Given the description of an element on the screen output the (x, y) to click on. 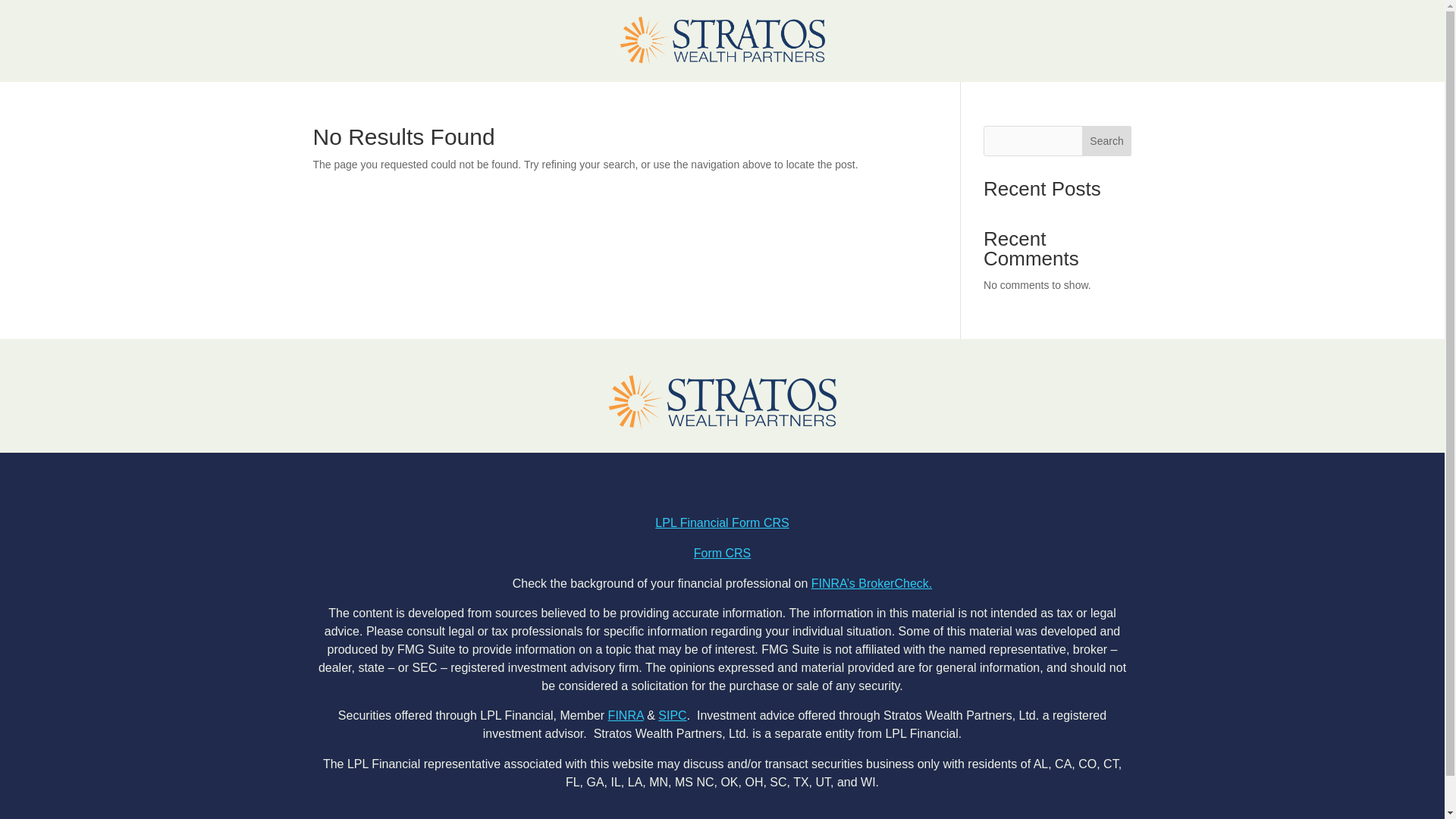
SIPC (671, 715)
stratos (722, 41)
stratos-1024x245-1 (721, 402)
Form CRS (722, 553)
Search (1106, 141)
LPL Financial Form CRS (722, 522)
FINRA (625, 715)
